Given the description of an element on the screen output the (x, y) to click on. 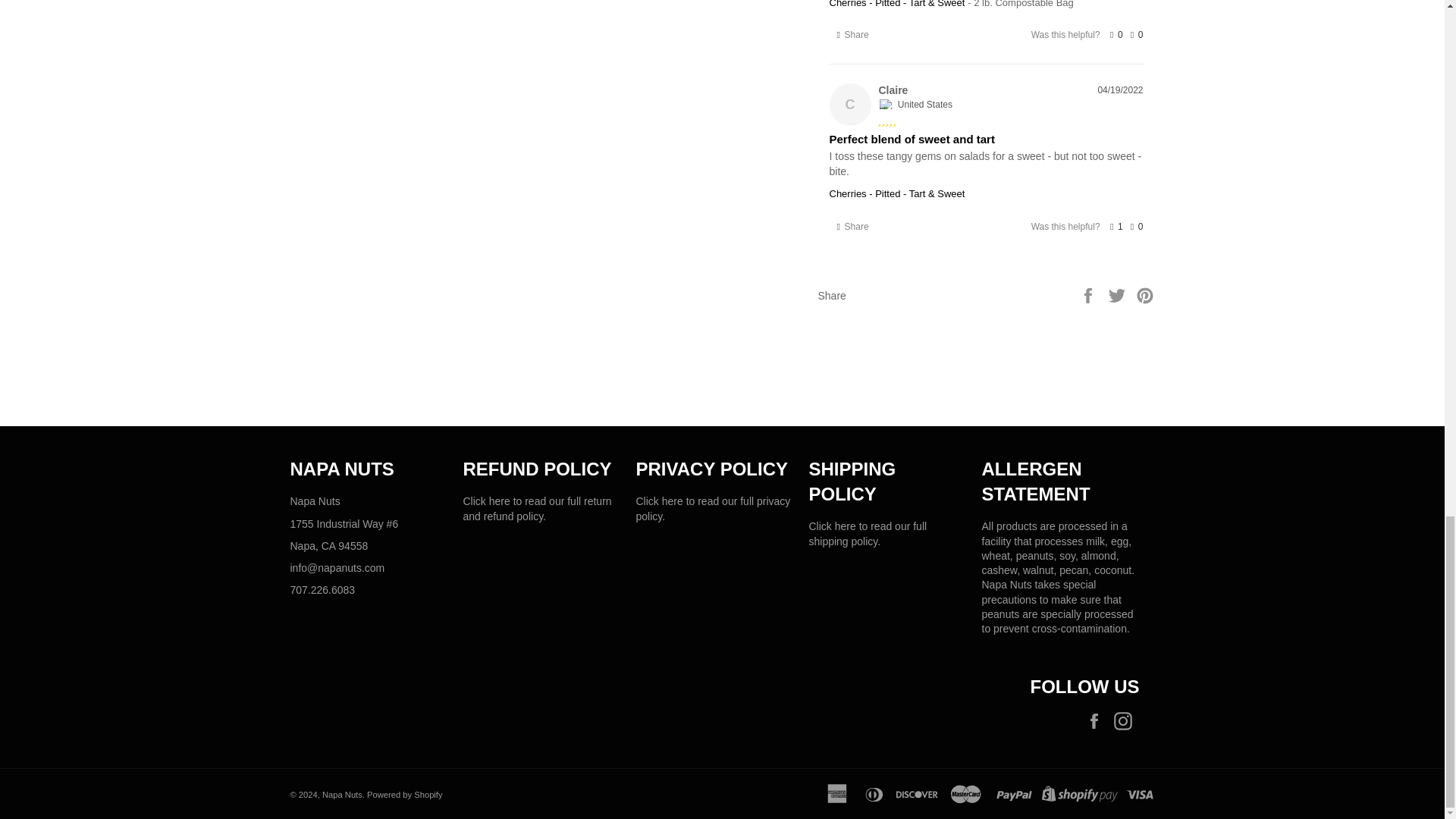
Napa Nuts on Facebook (1097, 720)
Napa Nuts on Instagram (1125, 720)
Tweet on Twitter (1118, 295)
Pin on Pinterest (1144, 295)
Privacy Policy (712, 508)
Share on Facebook (1089, 295)
Refund Policy (537, 508)
Shipping Policy (867, 533)
